Given the description of an element on the screen output the (x, y) to click on. 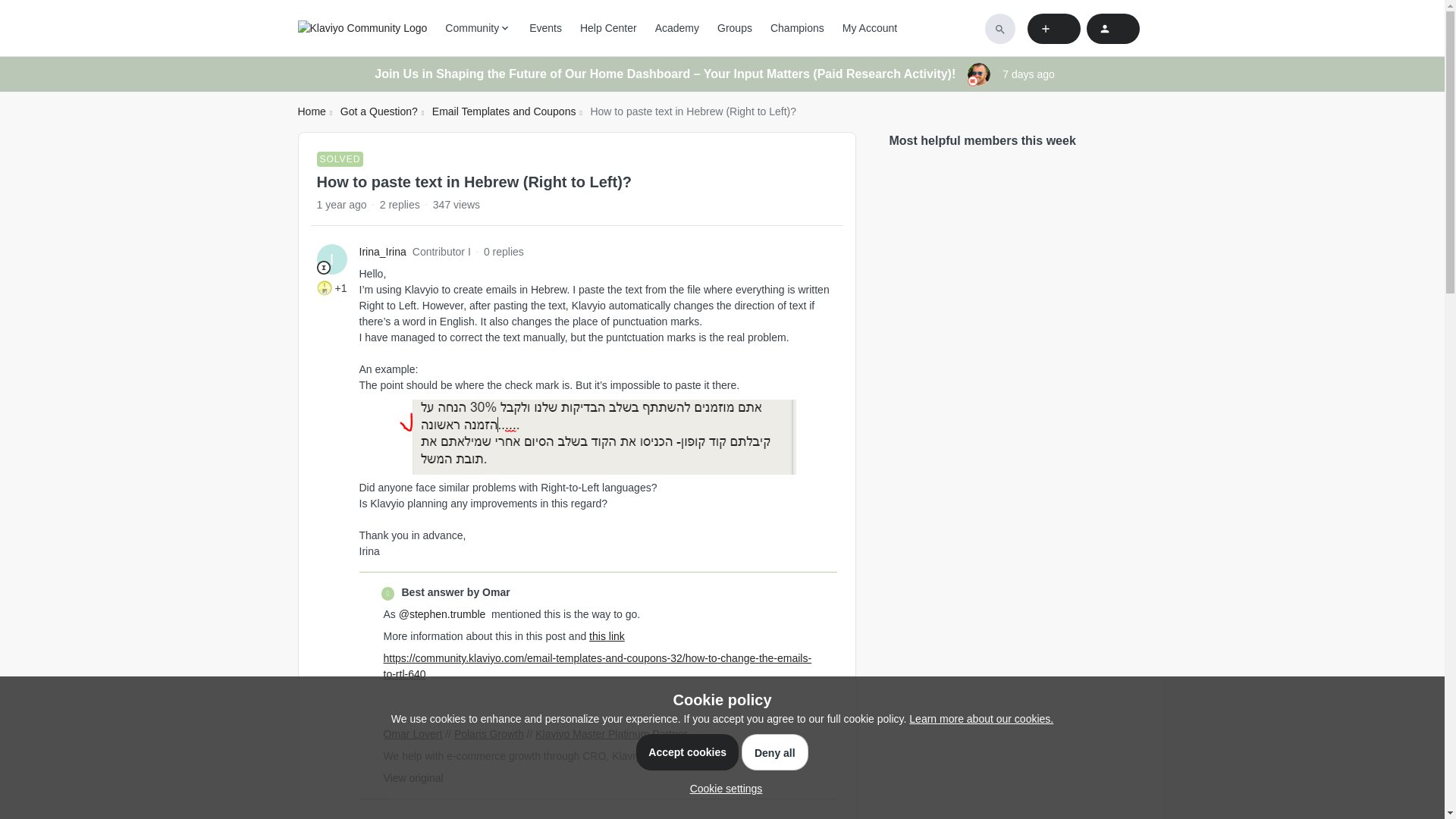
Help Center (608, 28)
Events (545, 28)
Community (478, 28)
Home (310, 111)
Academy (676, 28)
Groups (734, 28)
Champions (797, 28)
My Account (869, 28)
